Given the description of an element on the screen output the (x, y) to click on. 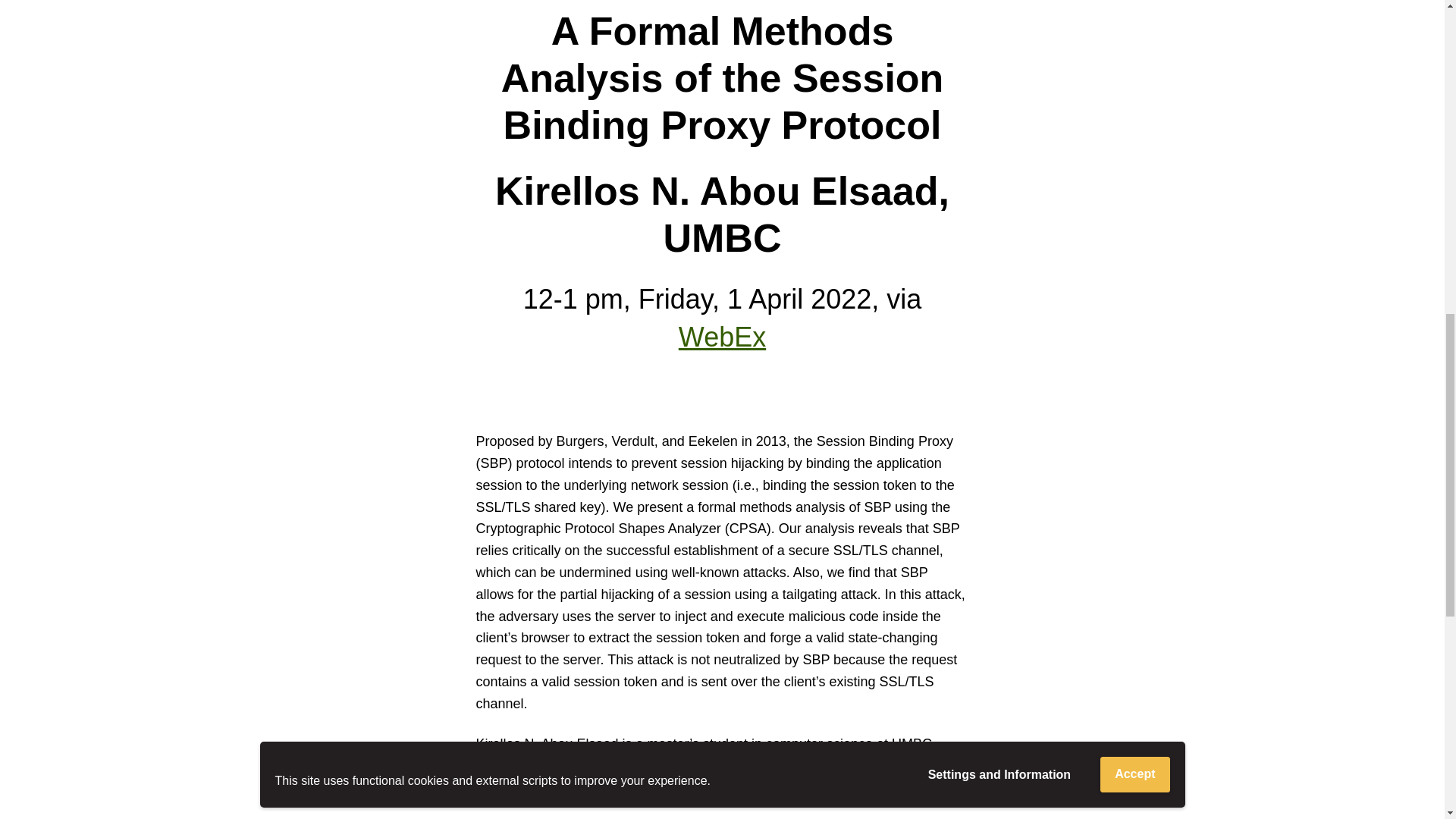
WebEx (721, 336)
